Given the description of an element on the screen output the (x, y) to click on. 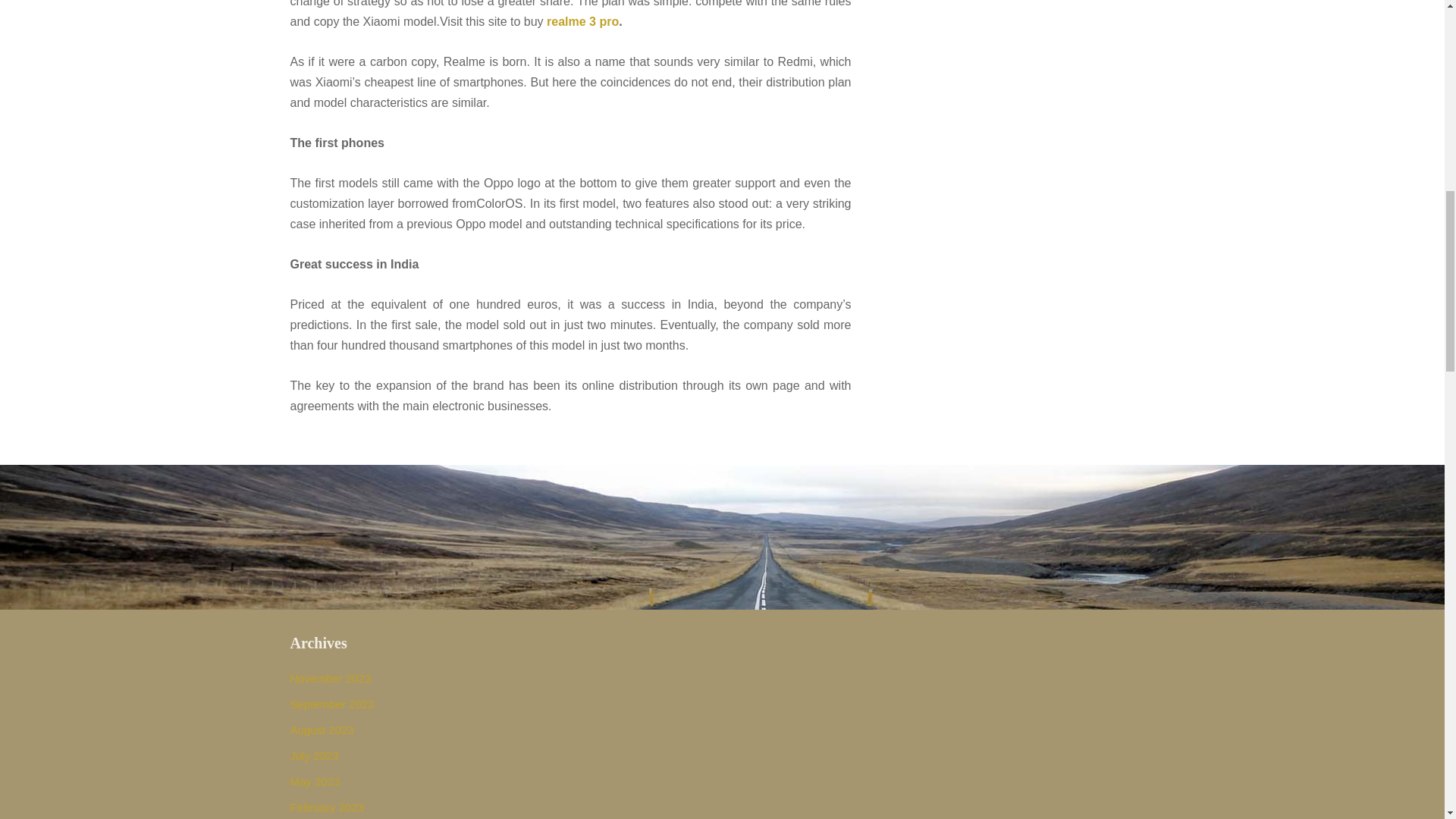
September 2023 (331, 703)
November 2023 (330, 677)
realme 3 pro (582, 21)
February 2023 (326, 807)
May 2023 (314, 780)
July 2023 (313, 755)
August 2023 (321, 729)
